Given the description of an element on the screen output the (x, y) to click on. 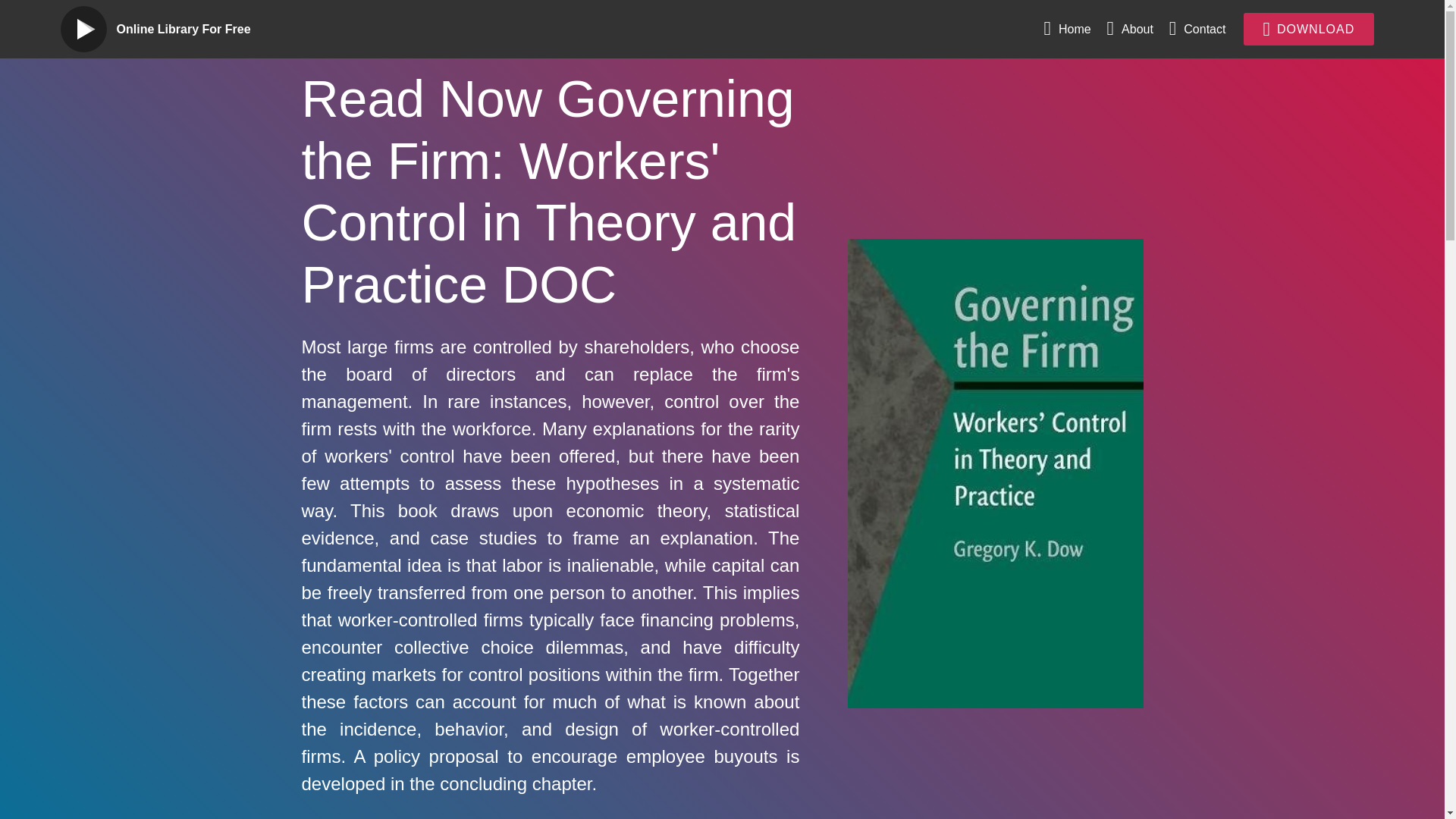
Contact (1197, 28)
Online Library For Free (195, 29)
DOWNLOAD (1308, 29)
About (1129, 28)
Home (1066, 28)
